Given the description of an element on the screen output the (x, y) to click on. 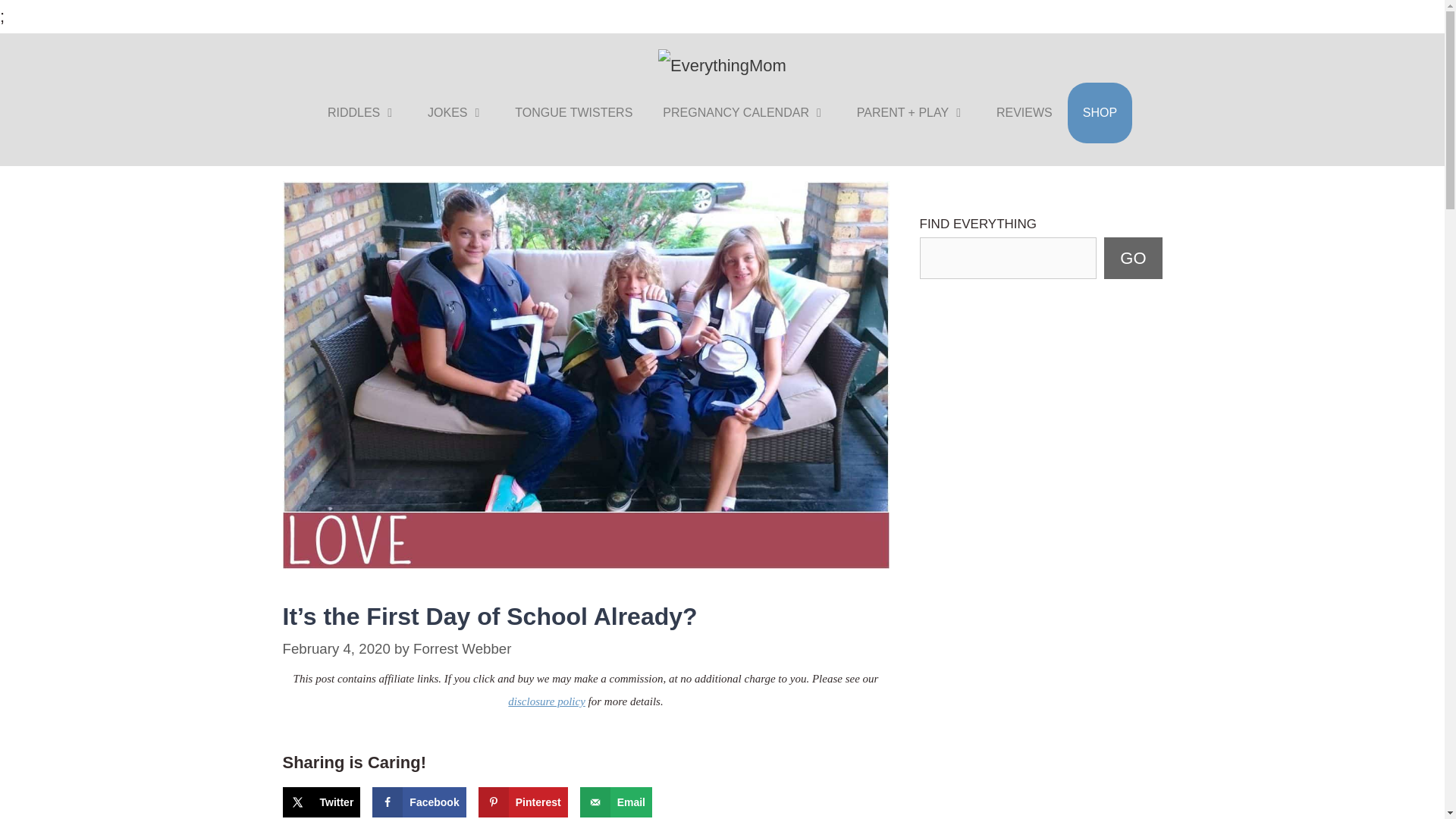
TONGUE TWISTERS (573, 112)
Send over email (615, 802)
Share on X (320, 802)
Save to Pinterest (523, 802)
PREGNANCY CALENDAR (744, 112)
RIDDLES (362, 112)
View all posts by Forrest Webber (462, 648)
Share on Facebook (418, 802)
JOKES (455, 112)
